Given the description of an element on the screen output the (x, y) to click on. 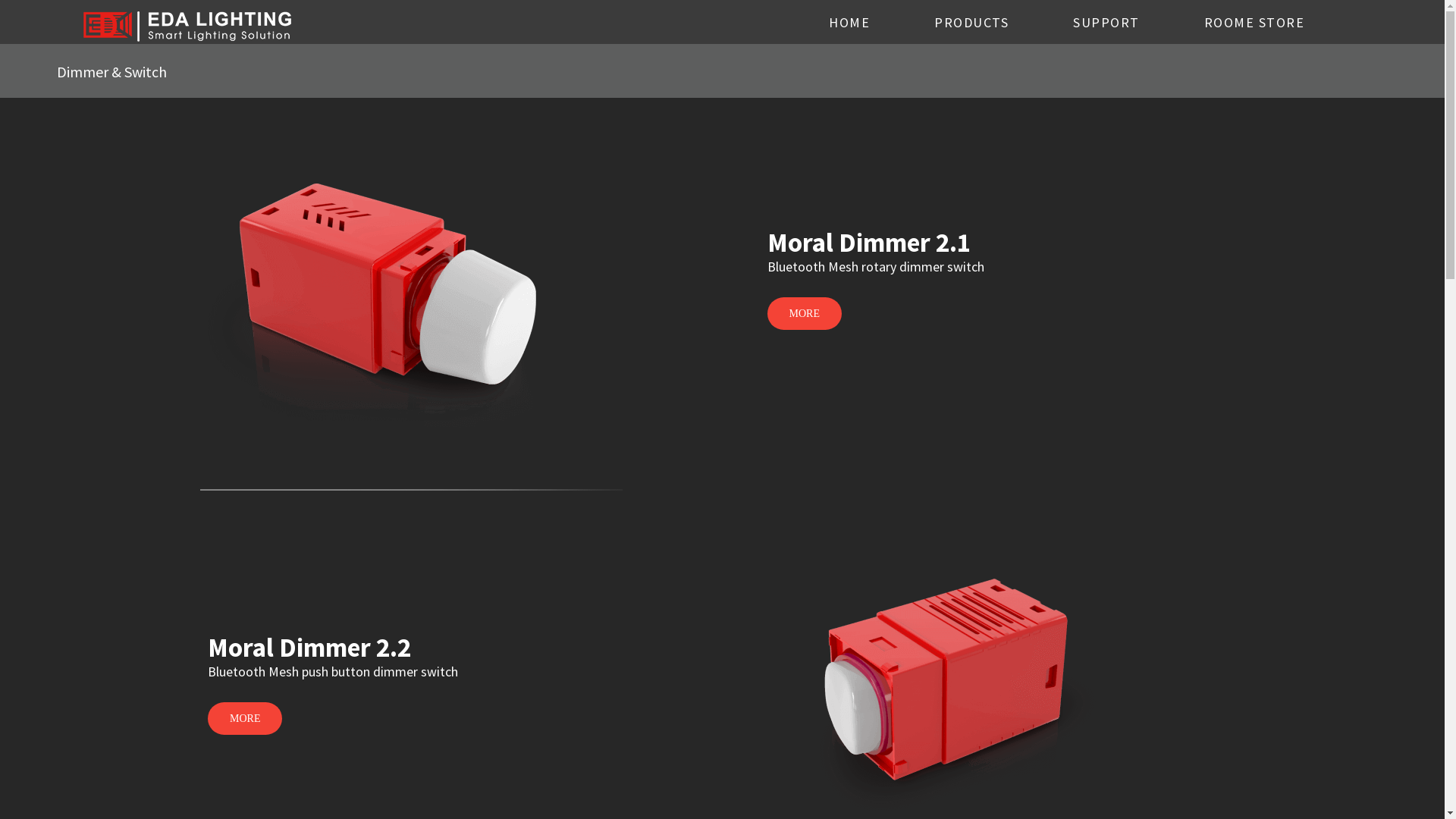
line Element type: hover (411, 489)
ROOME STORE Element type: text (1254, 22)
MORE Element type: text (804, 313)
PRODUCTS Element type: text (971, 22)
HOME Element type: text (849, 22)
SUPPORT Element type: text (1106, 22)
MORE Element type: text (244, 718)
